Given the description of an element on the screen output the (x, y) to click on. 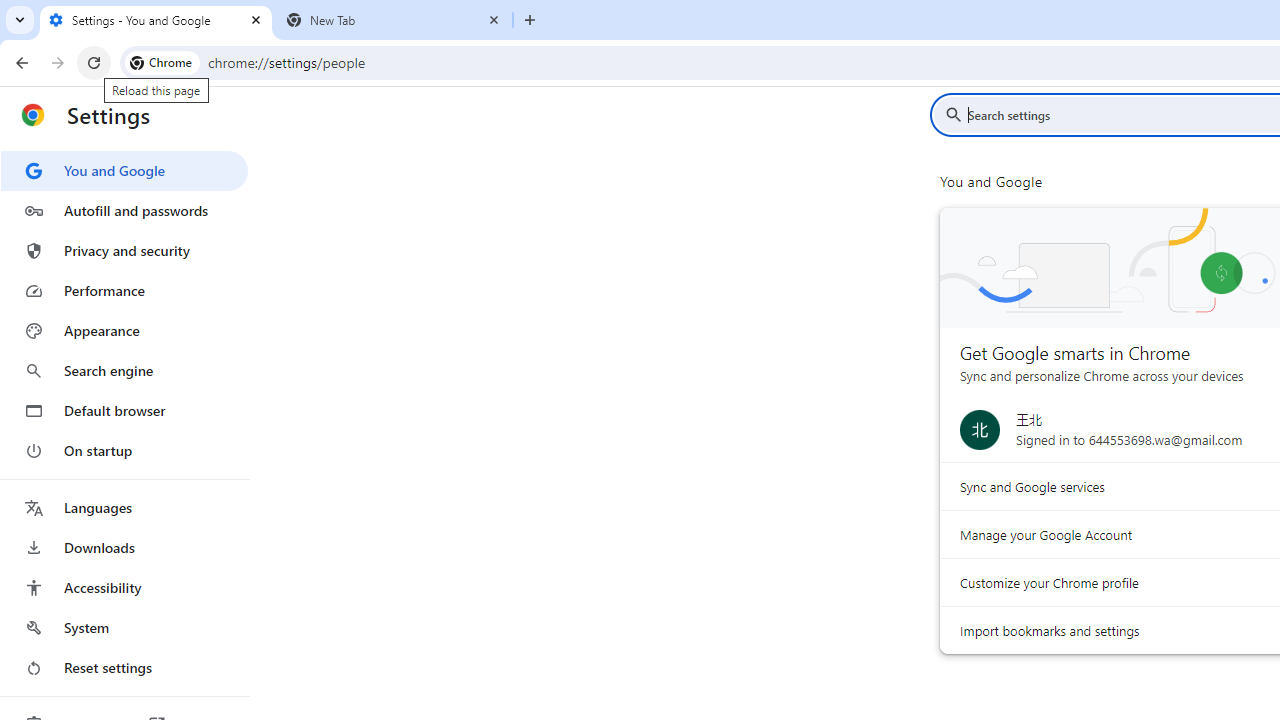
Default browser (124, 410)
You and Google (124, 170)
Search engine (124, 370)
On startup (124, 450)
Accessibility (124, 587)
Settings - You and Google (156, 20)
Autofill and passwords (124, 210)
New Tab (394, 20)
Privacy and security (124, 250)
